Given the description of an element on the screen output the (x, y) to click on. 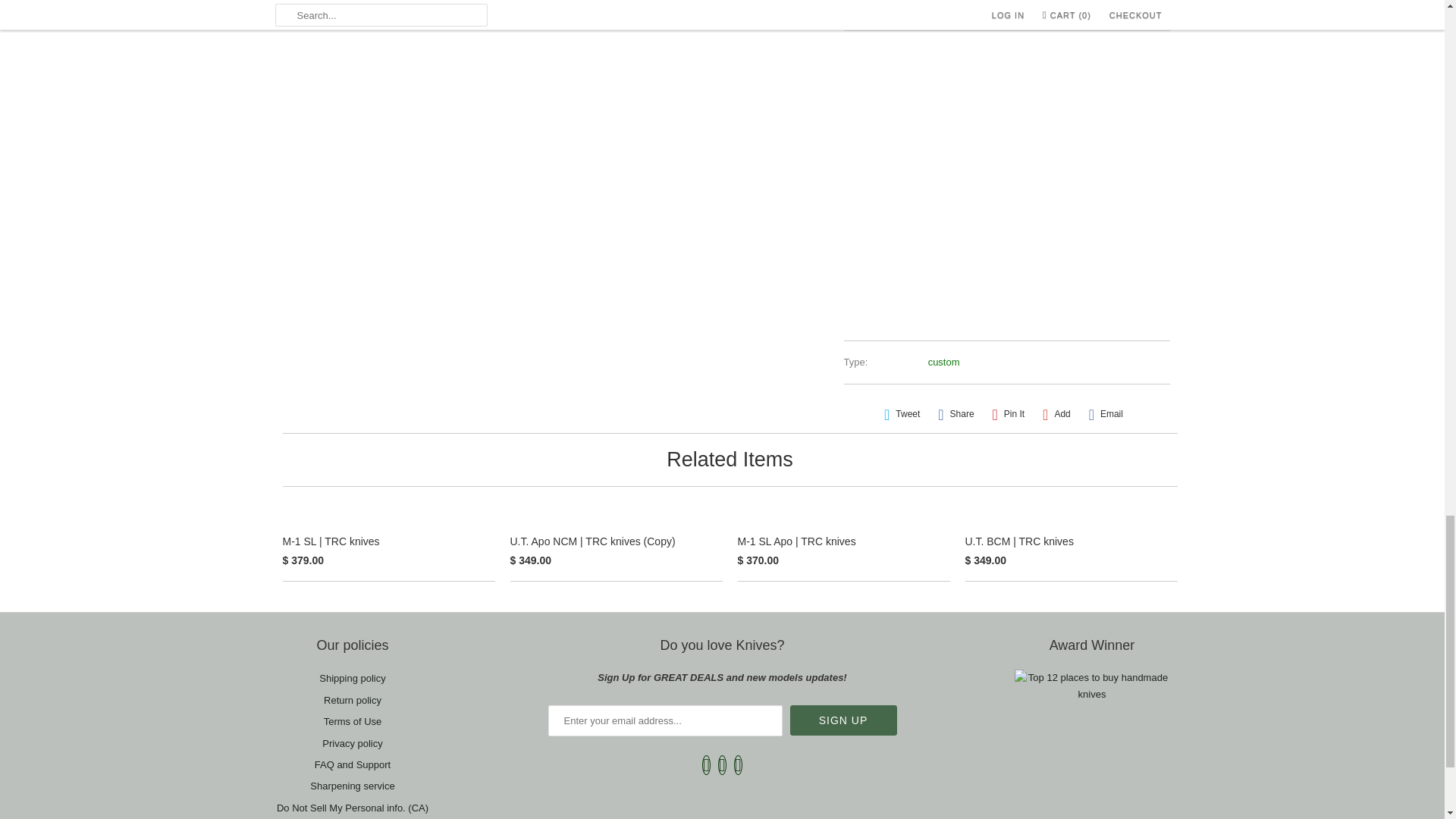
Share this on Twitter (901, 414)
custom (943, 361)
Share this on Facebook (955, 414)
Email this to a friend (1105, 414)
Sign Up (843, 720)
Share this on Pinterest (1008, 414)
